Given the description of an element on the screen output the (x, y) to click on. 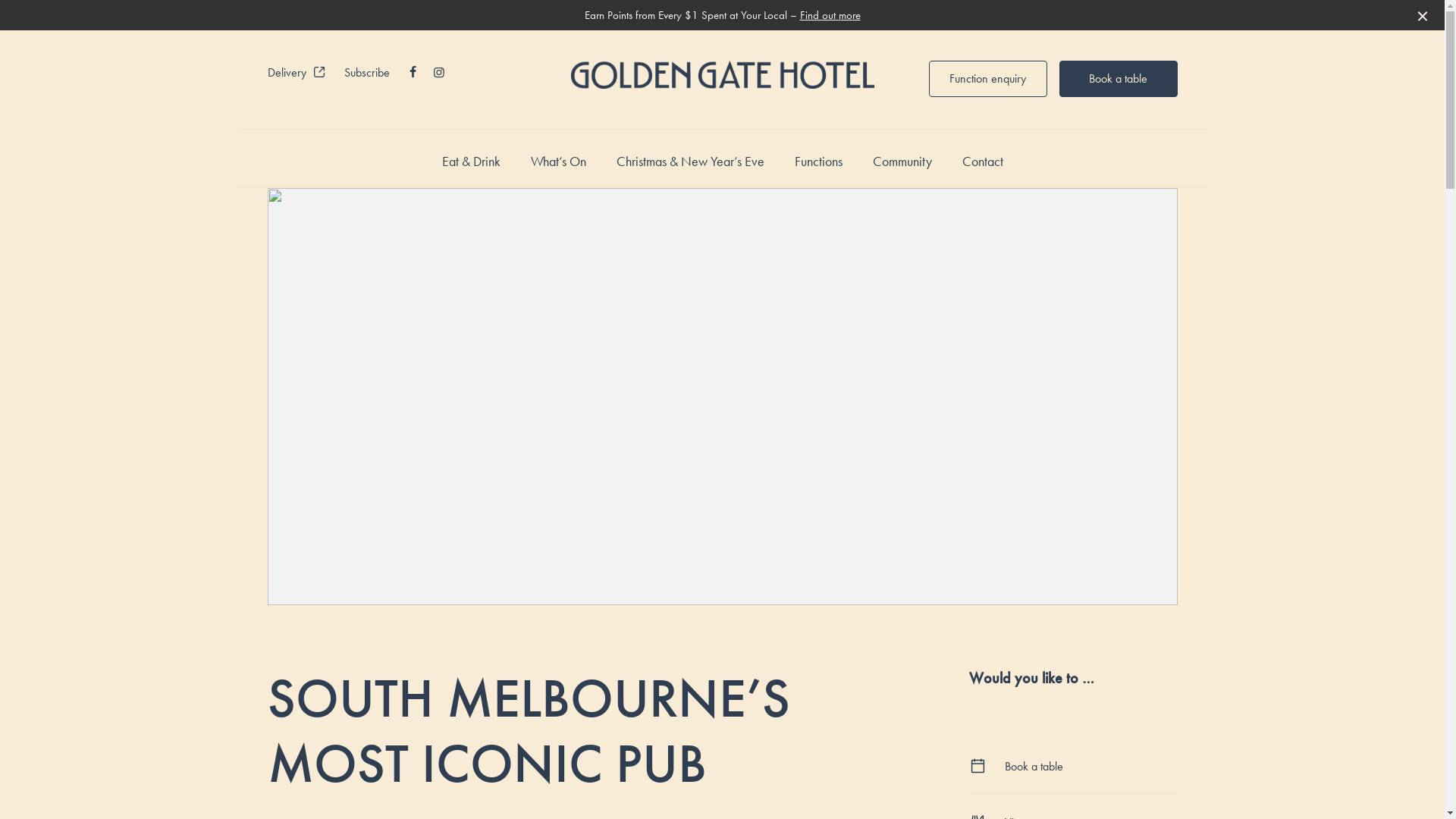
Find out more Element type: text (829, 14)
Book a table Element type: text (1117, 78)
Eat & Drink Element type: text (470, 161)
Functions Element type: text (818, 161)
Delivery Element type: text (295, 72)
Contact Element type: text (981, 161)
Community Element type: text (901, 161)
Function enquiry Element type: text (987, 78)
Book a table Element type: text (1073, 766)
Subscribe Element type: text (366, 72)
